Given the description of an element on the screen output the (x, y) to click on. 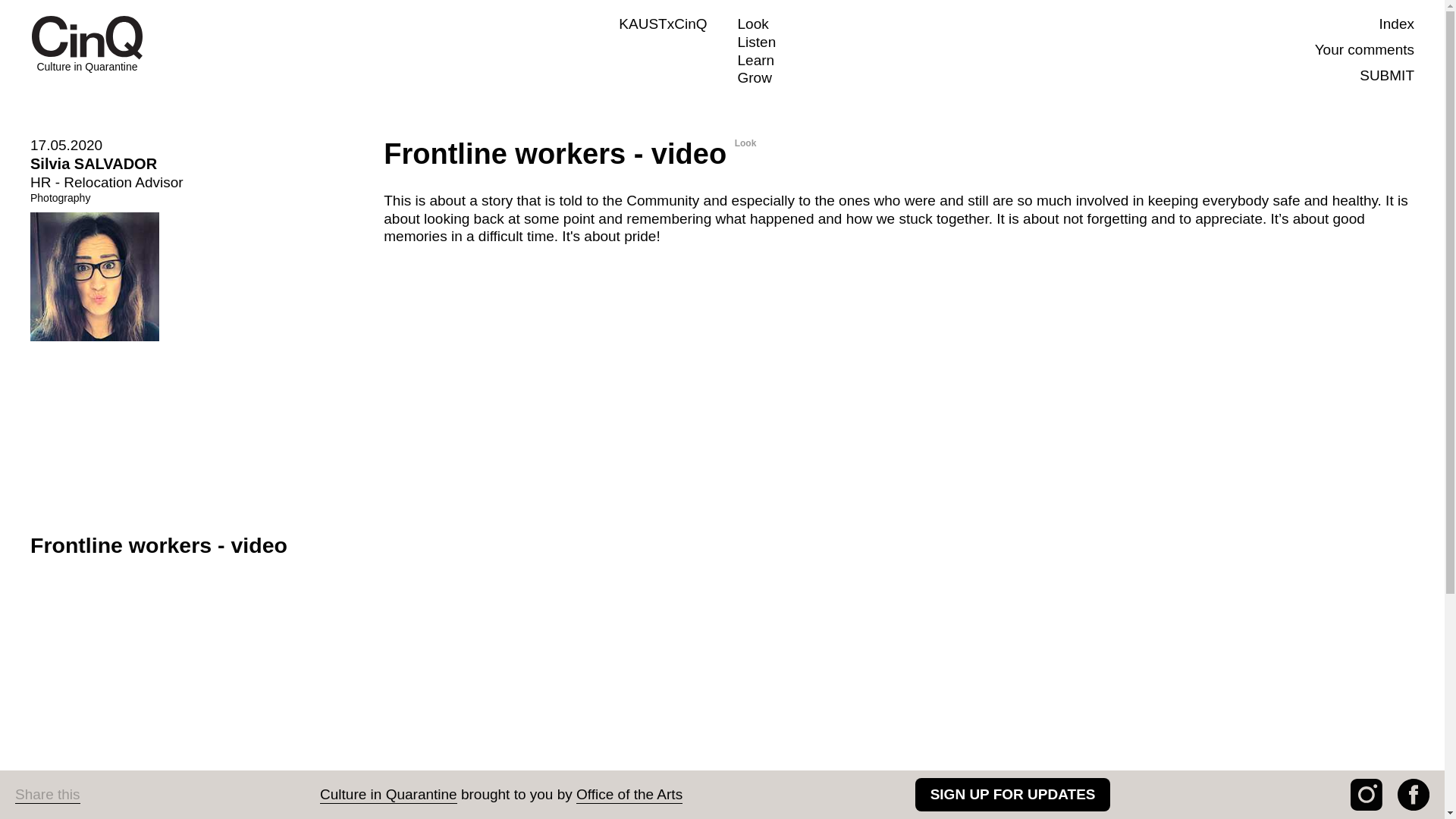
SUBMIT (1386, 74)
Index (1395, 23)
Frontline workers (1024, 816)
Coronavirus Operations Hub Team (504, 816)
Learn (755, 59)
KAUSTxCinQ (662, 23)
Rapid Research Response Team (764, 816)
SIGN UP FOR UPDATES (1012, 794)
Share this (47, 794)
Your comments (1363, 49)
Grow (753, 77)
Facebook (1413, 794)
Culture in Quarantine (388, 794)
Listen (191, 247)
